Given the description of an element on the screen output the (x, y) to click on. 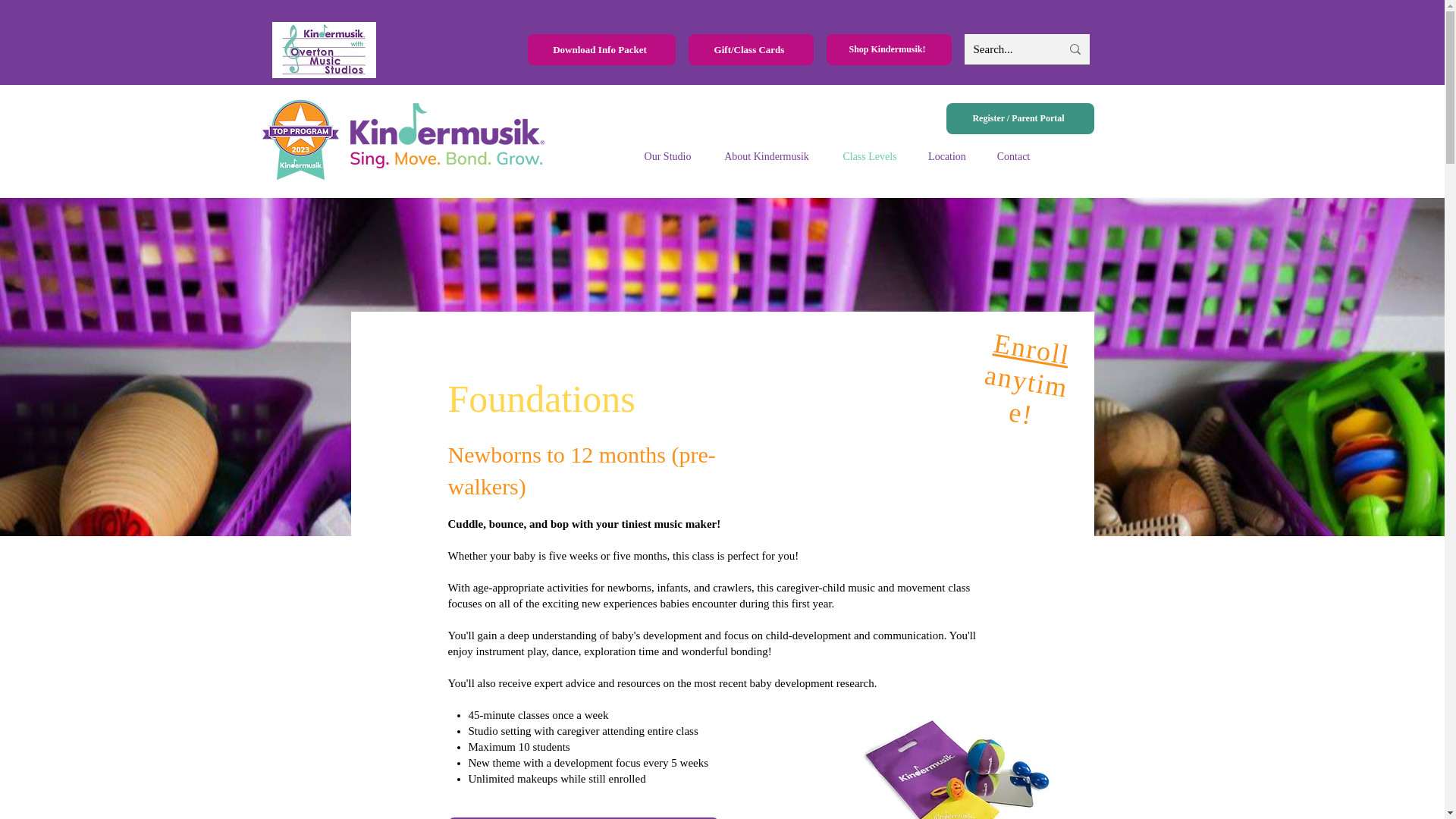
Class Levels (869, 156)
Contact (1013, 156)
Download Info Packet (601, 49)
fully-accredited-kindermusik-educator.pn (299, 139)
Shop Kindermusik! (889, 49)
Location (946, 156)
